Given the description of an element on the screen output the (x, y) to click on. 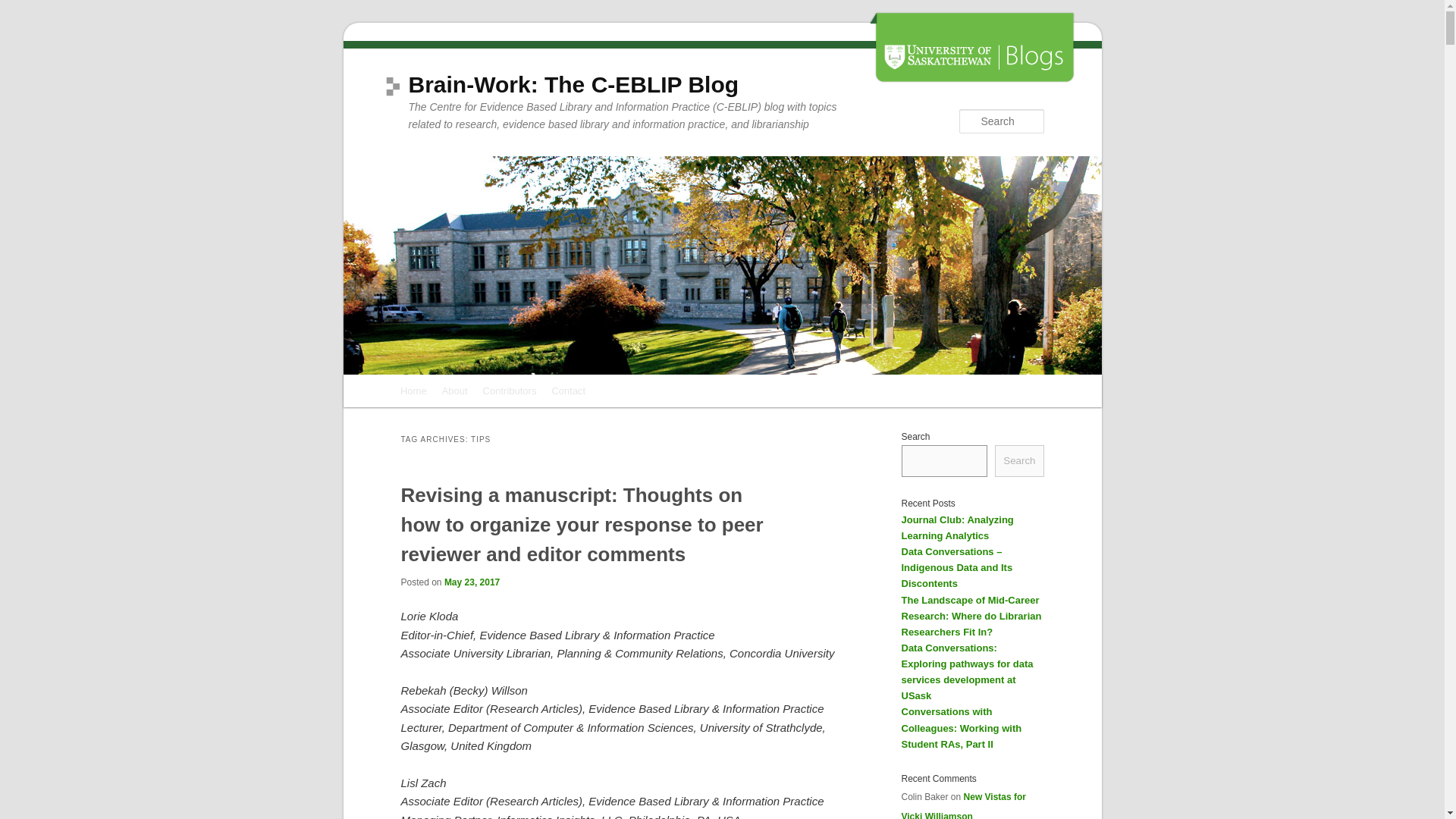
Contact (567, 390)
Home (413, 390)
Brain-Work: The C-EBLIP Blog (572, 84)
Brain-Work: The C-EBLIP Blog (572, 84)
Contributors (510, 390)
10:00 am (471, 582)
Search (24, 8)
About (454, 390)
May 23, 2017 (471, 582)
